Given the description of an element on the screen output the (x, y) to click on. 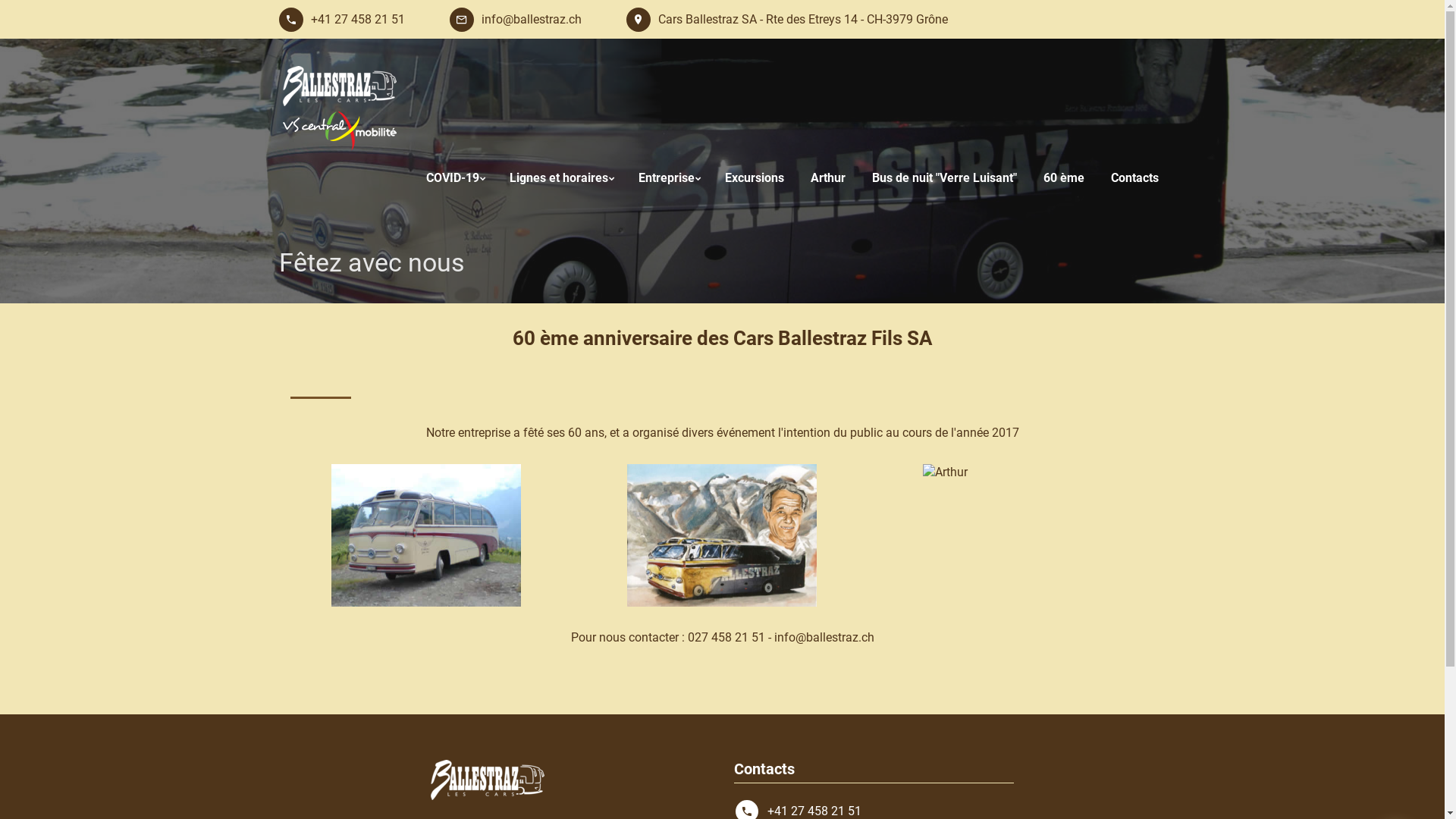
COVID-19 Element type: text (454, 178)
Excursions Element type: text (754, 178)
Contacts Element type: text (1133, 178)
Entreprise Element type: text (668, 178)
Bus de nuit "Verre Luisant" Element type: text (944, 178)
Lignes et horaires Element type: text (560, 178)
info@ballestraz.ch Element type: text (514, 19)
+41 27 458 21 51 Element type: text (341, 19)
info@ballestraz.ch Element type: text (823, 637)
Arthur Element type: text (827, 178)
